Given the description of an element on the screen output the (x, y) to click on. 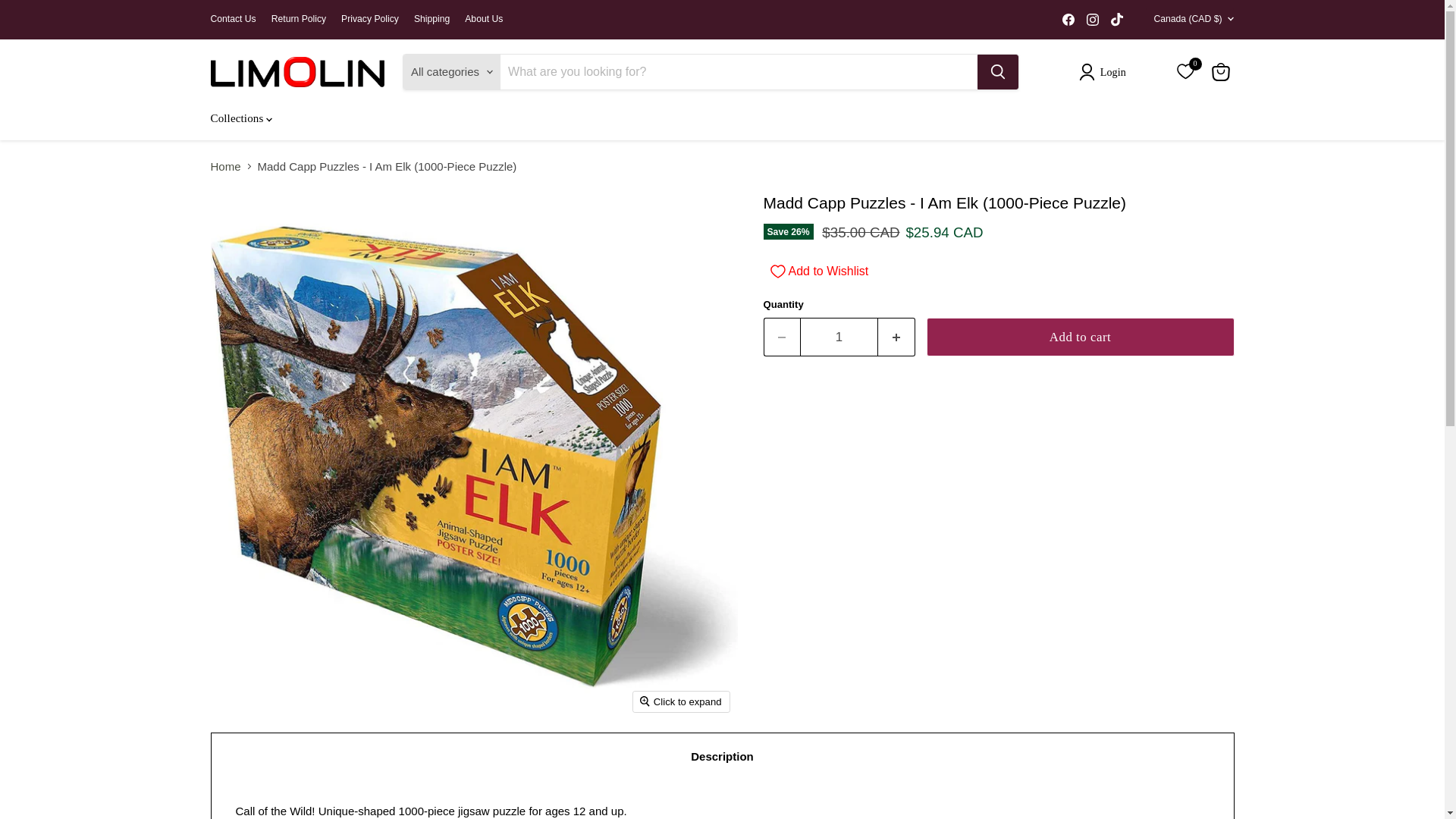
Facebook (1068, 19)
About Us (483, 18)
Privacy Policy (369, 18)
Instagram (1092, 19)
Find us on TikTok (1116, 19)
Contact Us (233, 18)
Find us on Facebook (1068, 19)
Shipping (431, 18)
TikTok (1116, 19)
1 (838, 336)
